Given the description of an element on the screen output the (x, y) to click on. 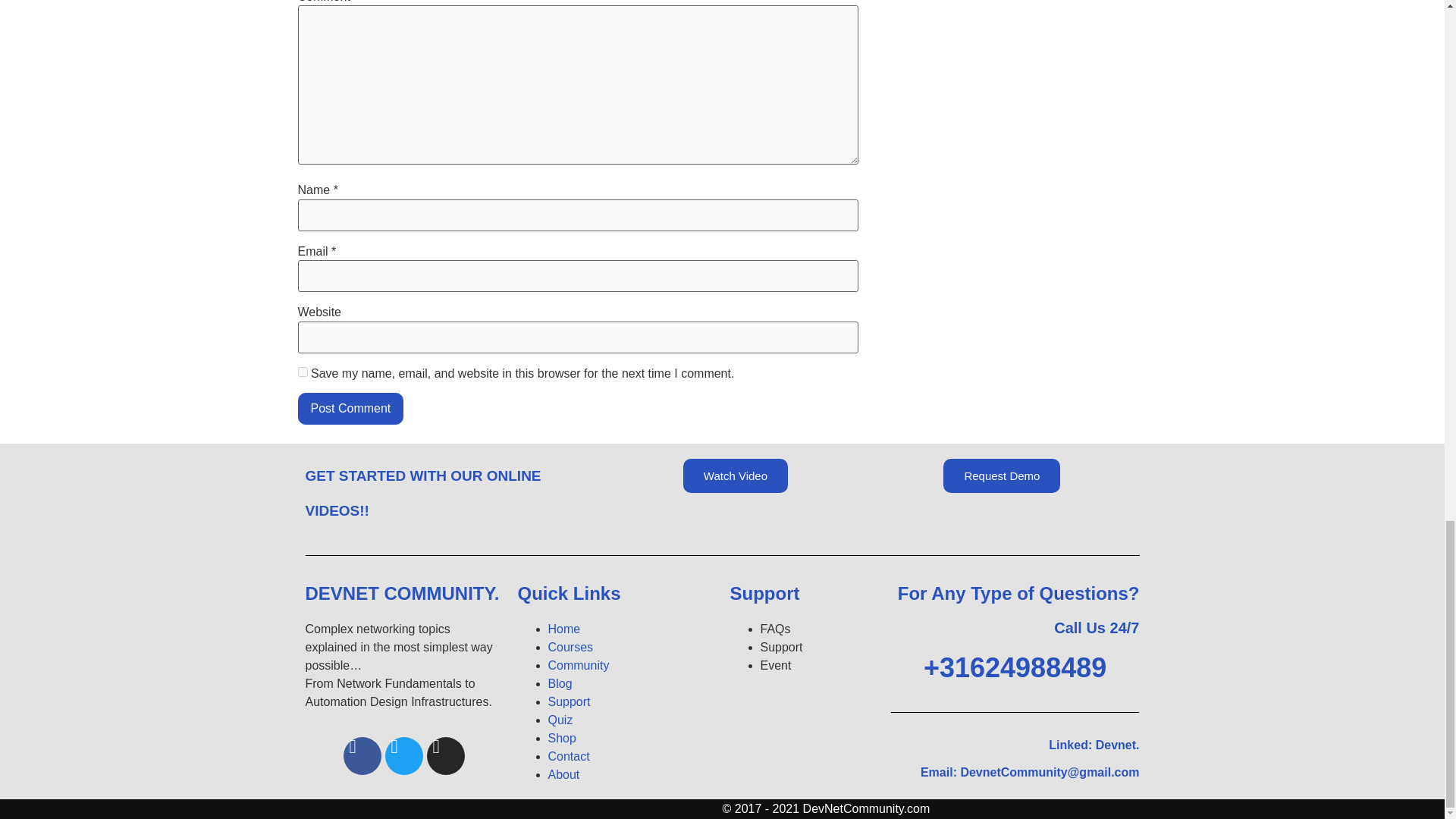
Post Comment (350, 409)
Post Comment (350, 409)
yes (302, 371)
